Given the description of an element on the screen output the (x, y) to click on. 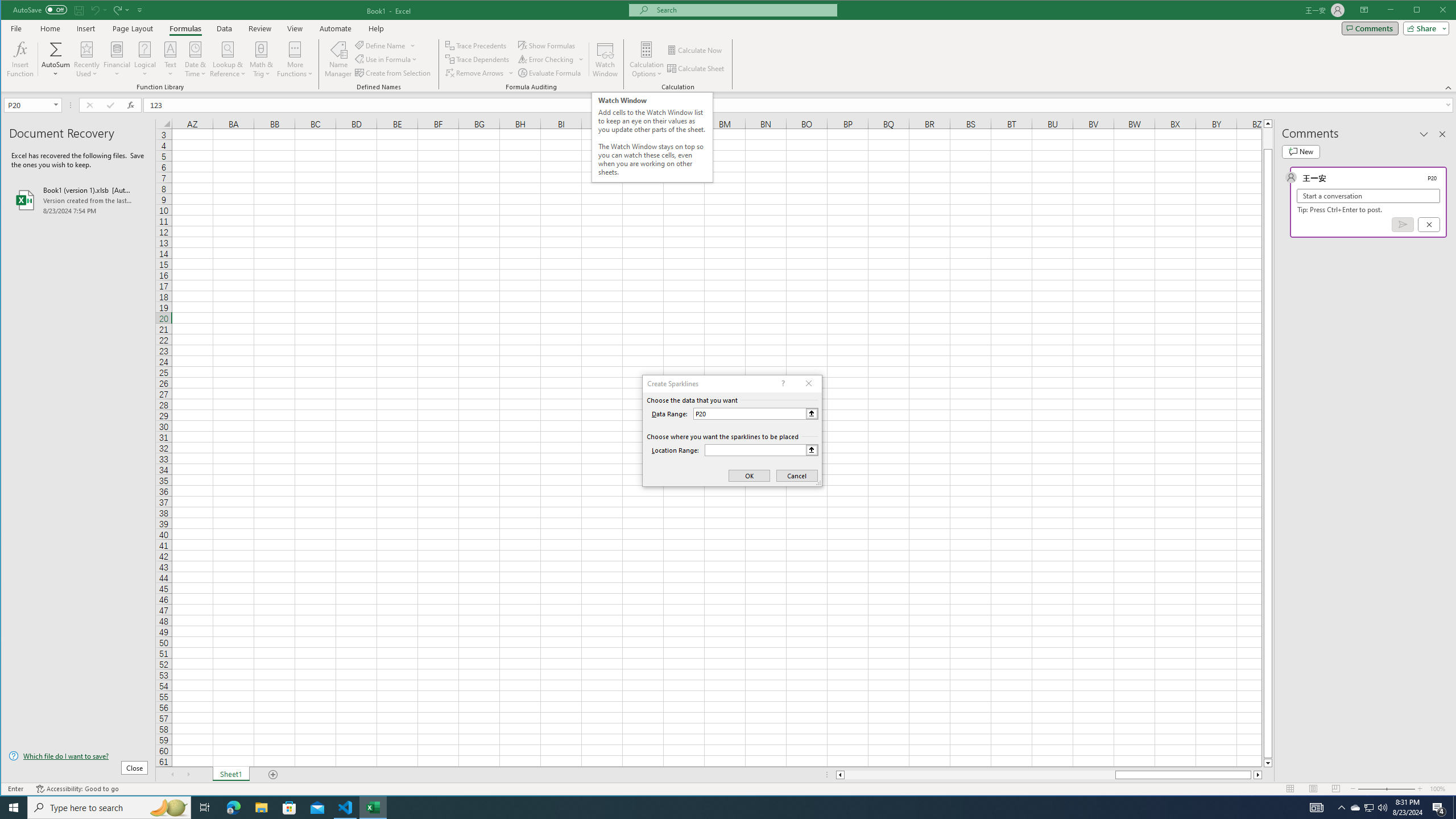
Sum (55, 48)
Trace Precedents (476, 45)
Financial (116, 59)
New comment (1300, 151)
Remove Arrows (480, 72)
Define Name... (381, 45)
Use in Formula (386, 59)
